Given the description of an element on the screen output the (x, y) to click on. 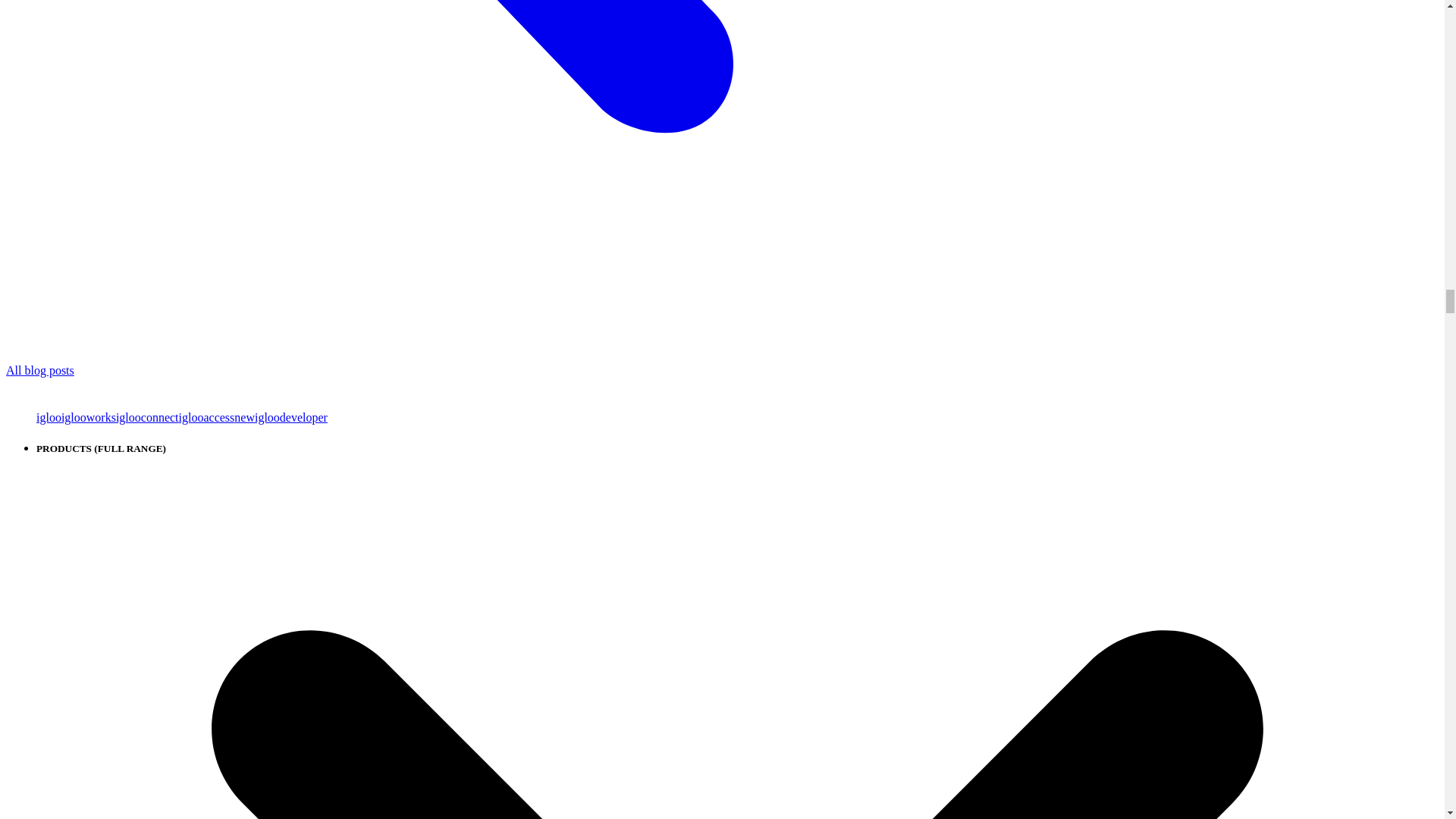
iglooaccessnew (216, 417)
igloo (48, 417)
iglooworks (88, 417)
iglooconnect (147, 417)
igloodeveloper (290, 417)
